Given the description of an element on the screen output the (x, y) to click on. 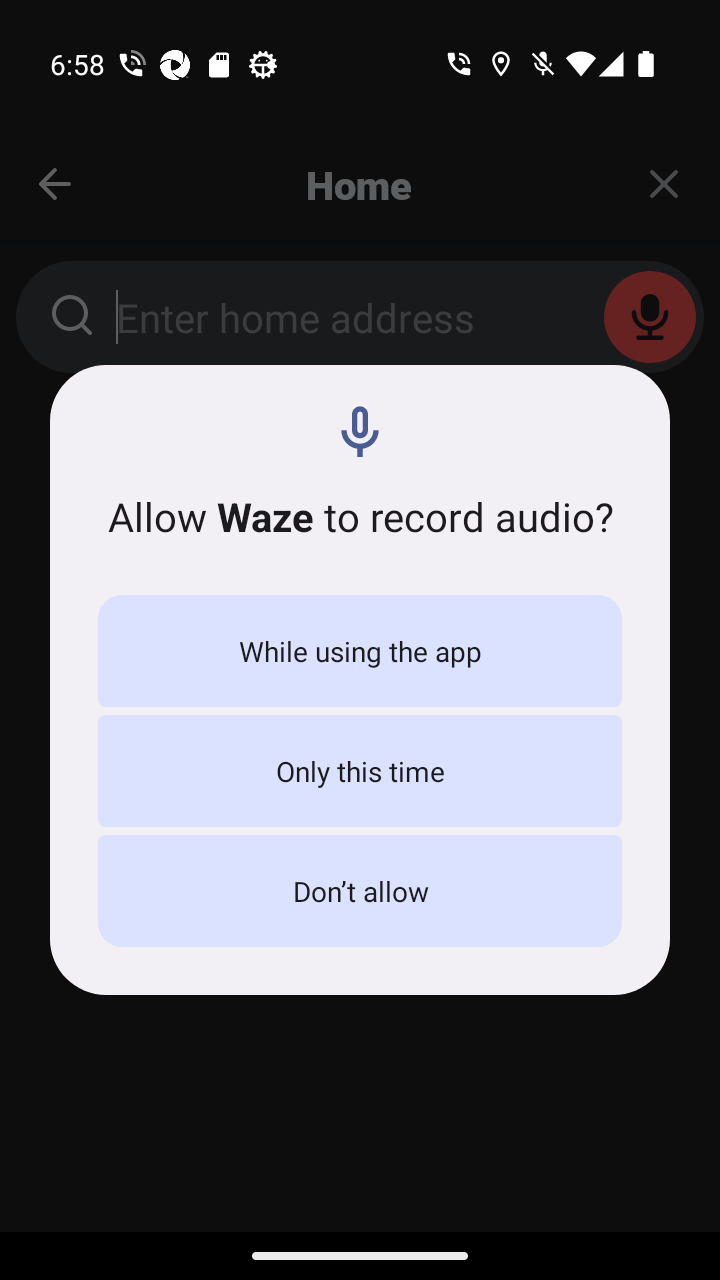
While using the app (359, 650)
Only this time (359, 770)
Don’t allow (359, 890)
